Given the description of an element on the screen output the (x, y) to click on. 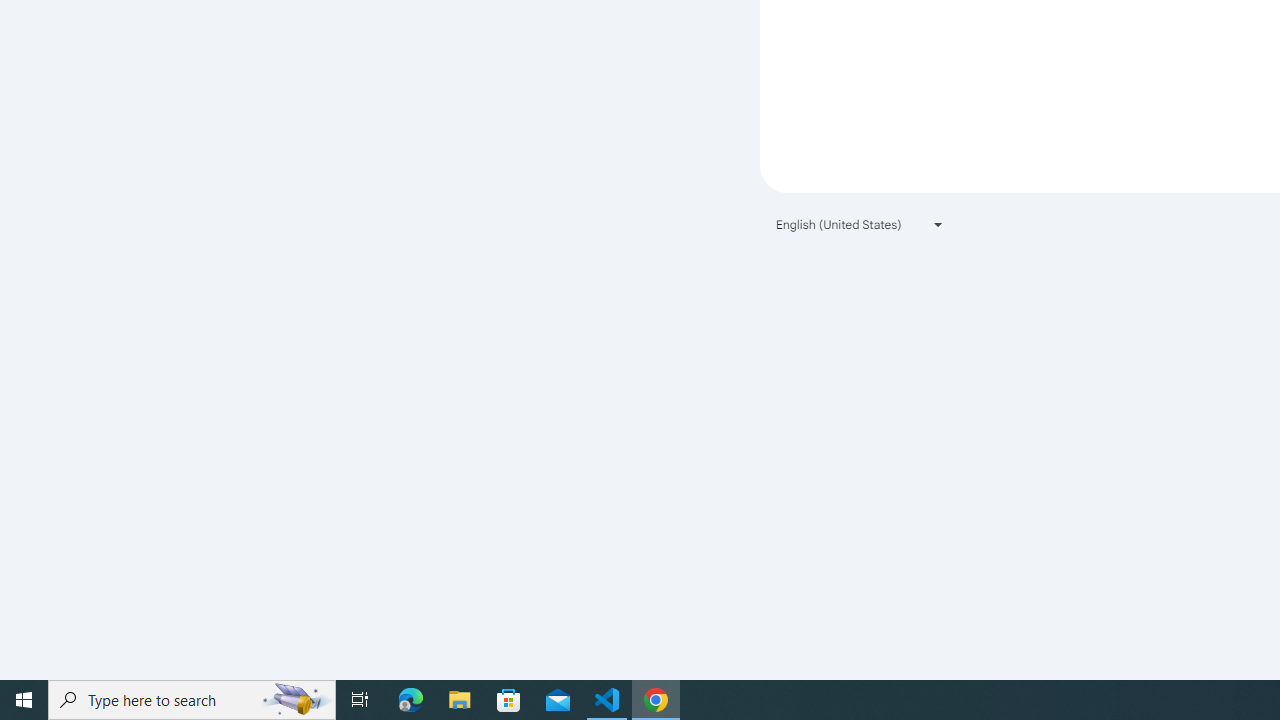
English (United States) (860, 224)
